Given the description of an element on the screen output the (x, y) to click on. 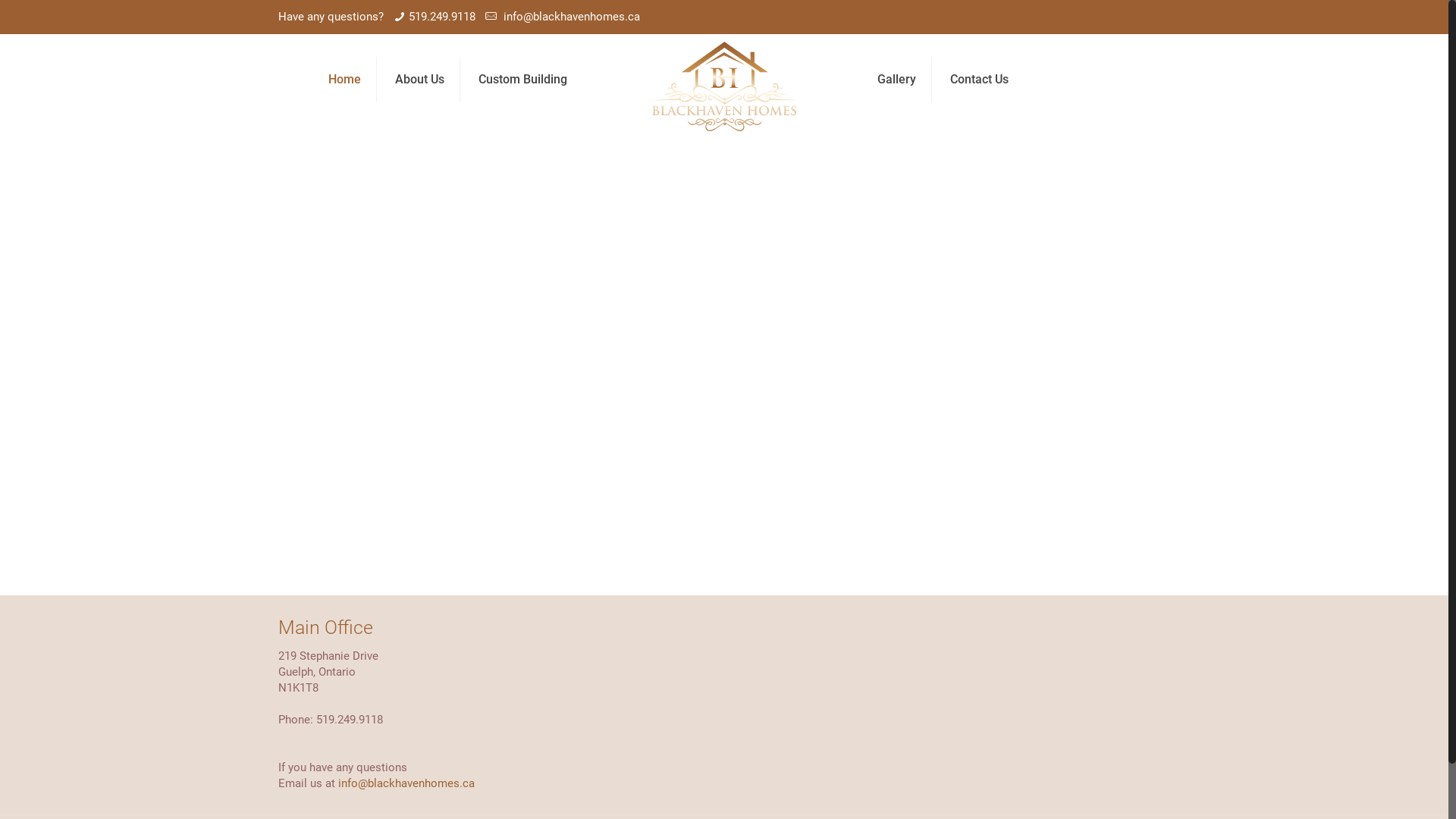
info@blackhavenhomes.ca Element type: text (406, 783)
About Us Element type: text (419, 79)
Blackhaven Homes Element type: hover (724, 87)
Contact Us Element type: text (979, 79)
Gallery Element type: text (896, 79)
519.249.9118 Element type: text (441, 16)
Custom Building Element type: text (522, 79)
Home Element type: text (344, 79)
info@blackhavenhomes.ca Element type: text (570, 16)
